Given the description of an element on the screen output the (x, y) to click on. 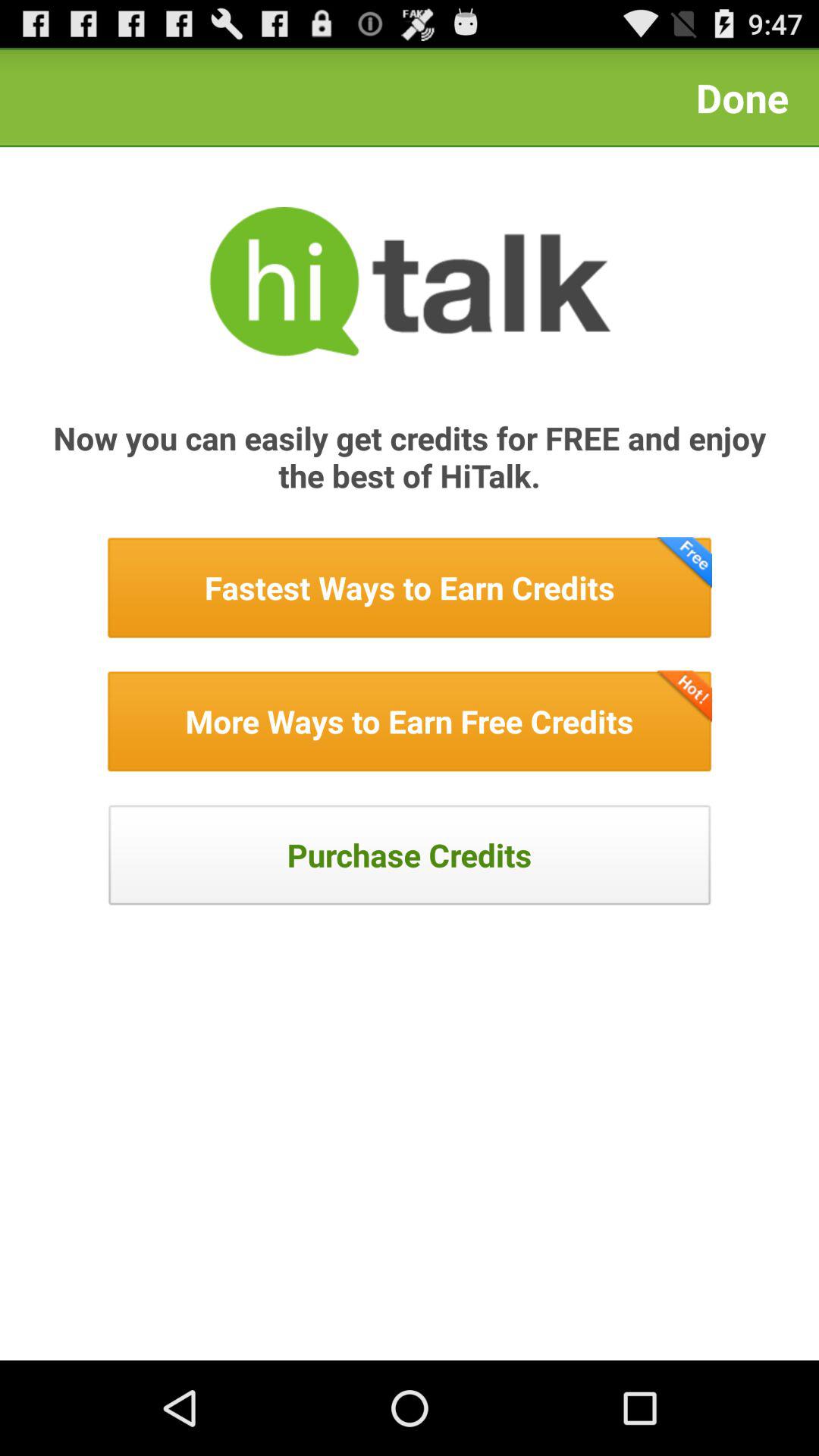
purchase credits (409, 855)
